Given the description of an element on the screen output the (x, y) to click on. 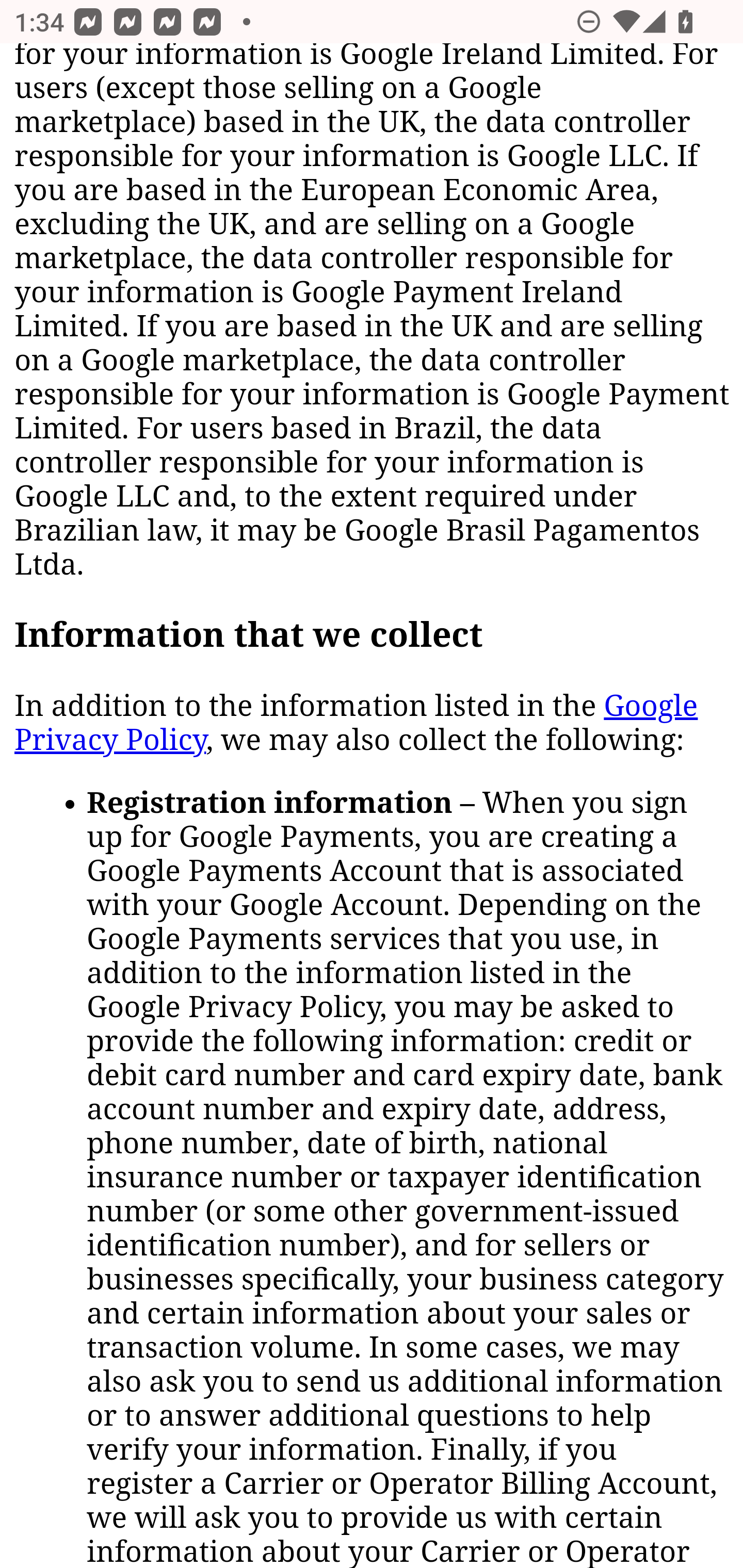
Google Privacy Policy (356, 722)
